Given the description of an element on the screen output the (x, y) to click on. 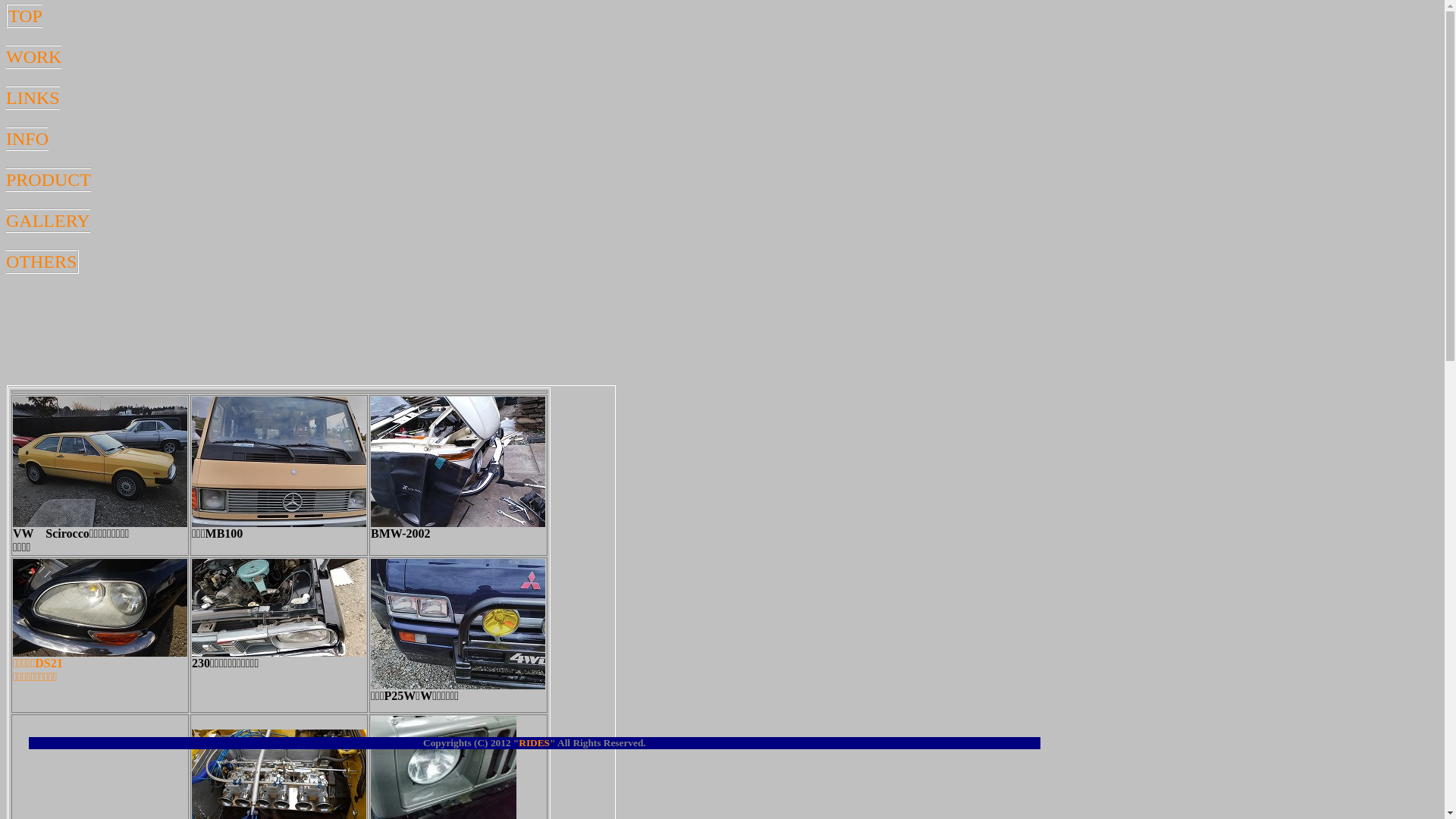
WORK Element type: text (33, 56)
OTHERS Element type: text (41, 261)
TOP Element type: text (25, 15)
INFO Element type: text (27, 138)
GALLERY Element type: text (48, 220)
PRODUCT Element type: text (48, 179)
RIDES Element type: text (533, 742)
LINKS Element type: text (32, 97)
